Given the description of an element on the screen output the (x, y) to click on. 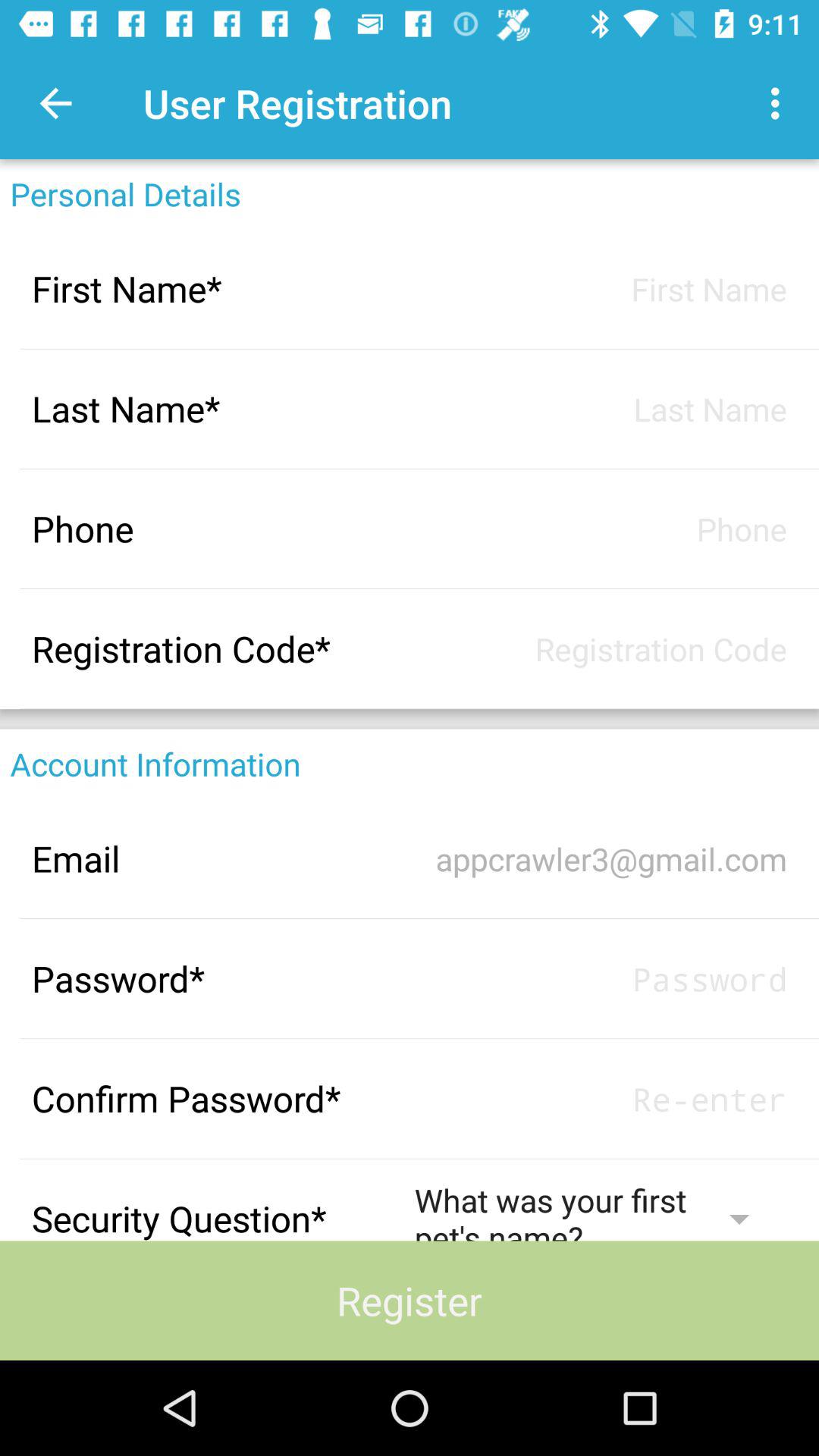
textbox option (600, 288)
